Given the description of an element on the screen output the (x, y) to click on. 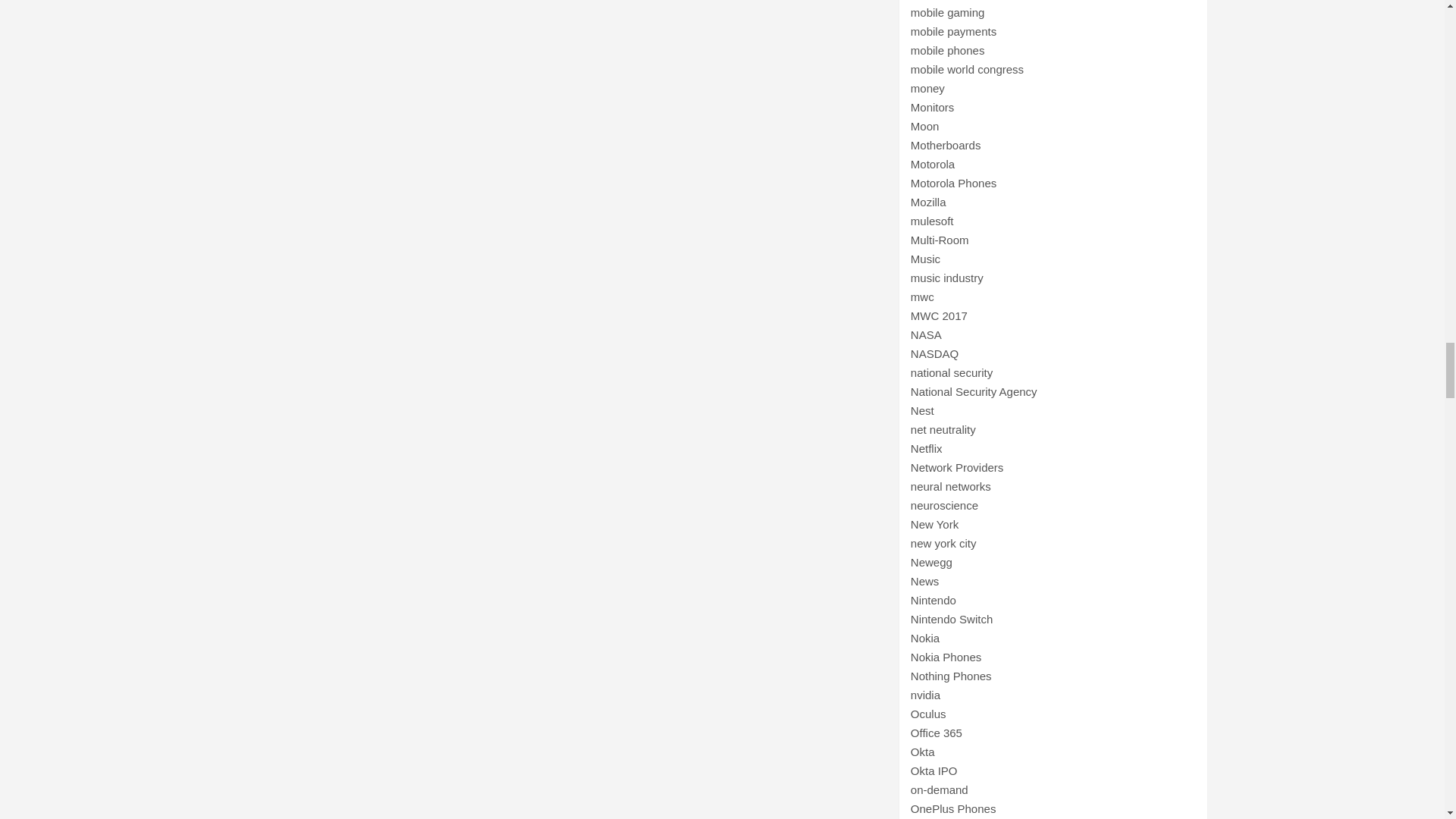
Newegg (931, 562)
